Given the description of an element on the screen output the (x, y) to click on. 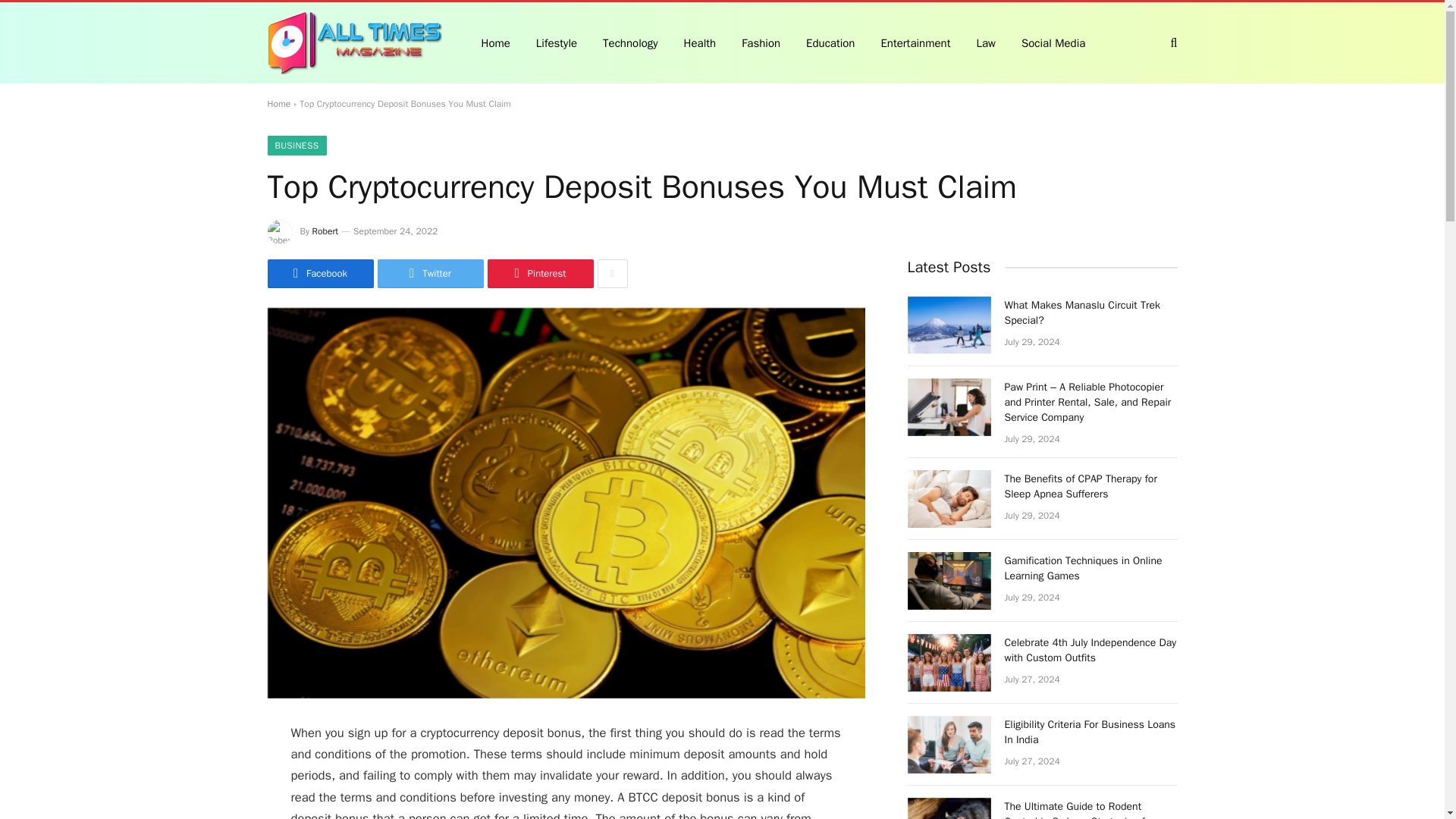
BUSINESS (296, 145)
Entertainment (914, 42)
Social Media (1053, 42)
Posts by Robert (326, 231)
Twitter (430, 273)
Pinterest (539, 273)
Education (830, 42)
Share on Facebook (319, 273)
Show More Social Sharing (611, 273)
Technology (630, 42)
alltimesmagazine.com (353, 42)
Robert (326, 231)
Facebook (319, 273)
Home (277, 103)
